Given the description of an element on the screen output the (x, y) to click on. 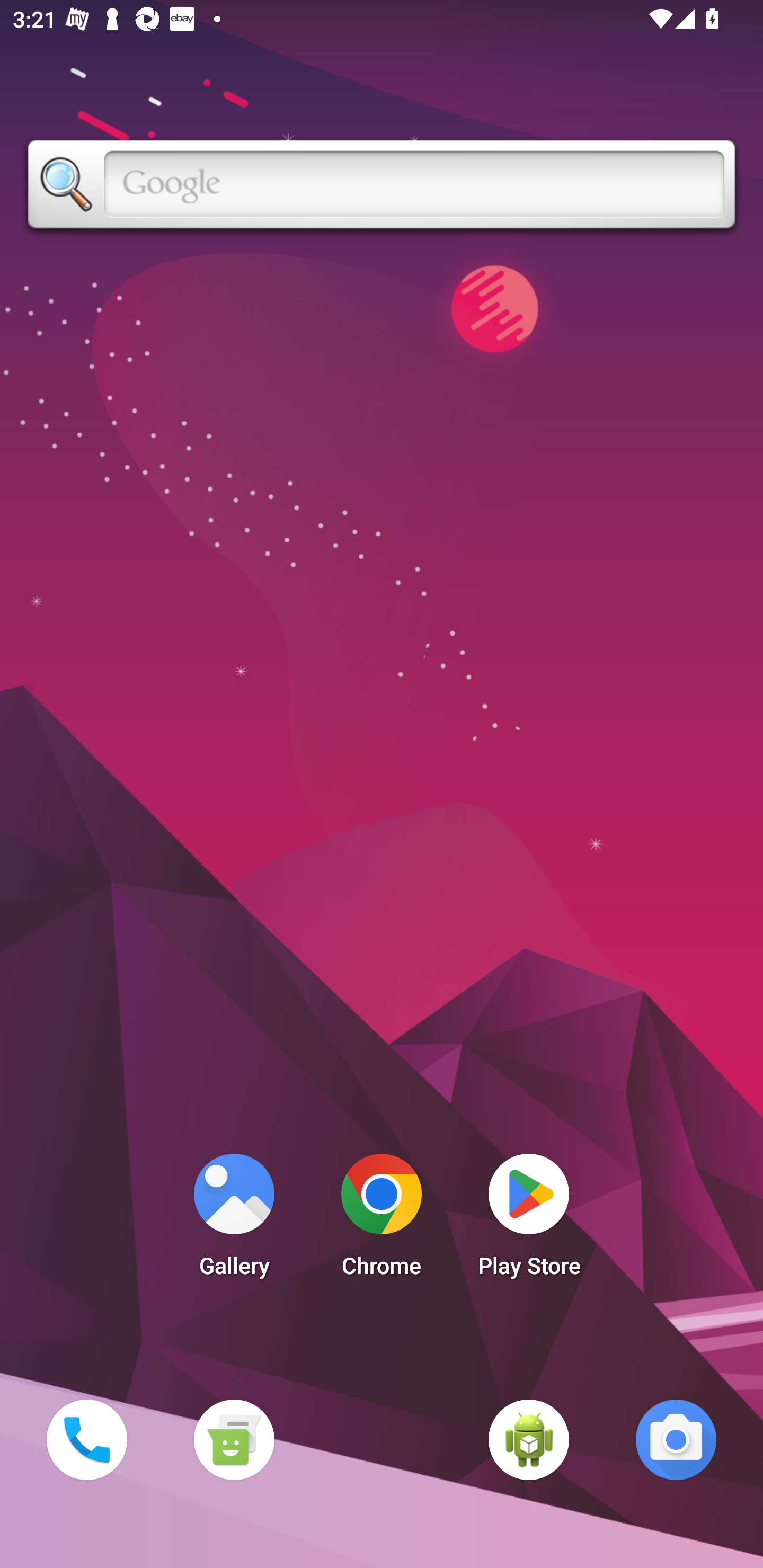
Gallery (233, 1220)
Chrome (381, 1220)
Play Store (528, 1220)
Phone (86, 1439)
Messaging (233, 1439)
WebView Browser Tester (528, 1439)
Camera (676, 1439)
